Given the description of an element on the screen output the (x, y) to click on. 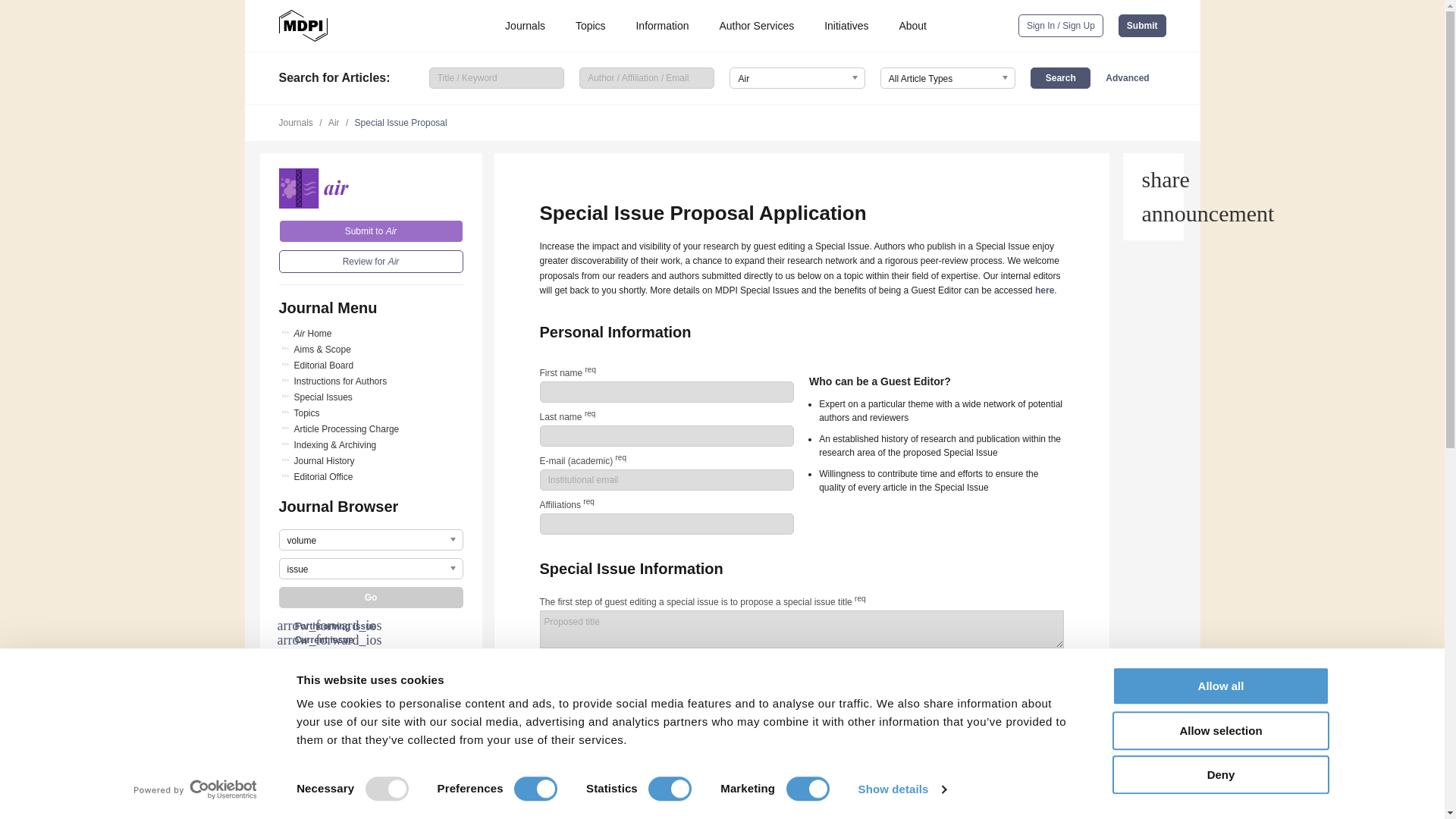
Go (371, 597)
Show details (900, 789)
Search (1060, 77)
Search (1060, 77)
0 (545, 668)
1 (545, 816)
